Given the description of an element on the screen output the (x, y) to click on. 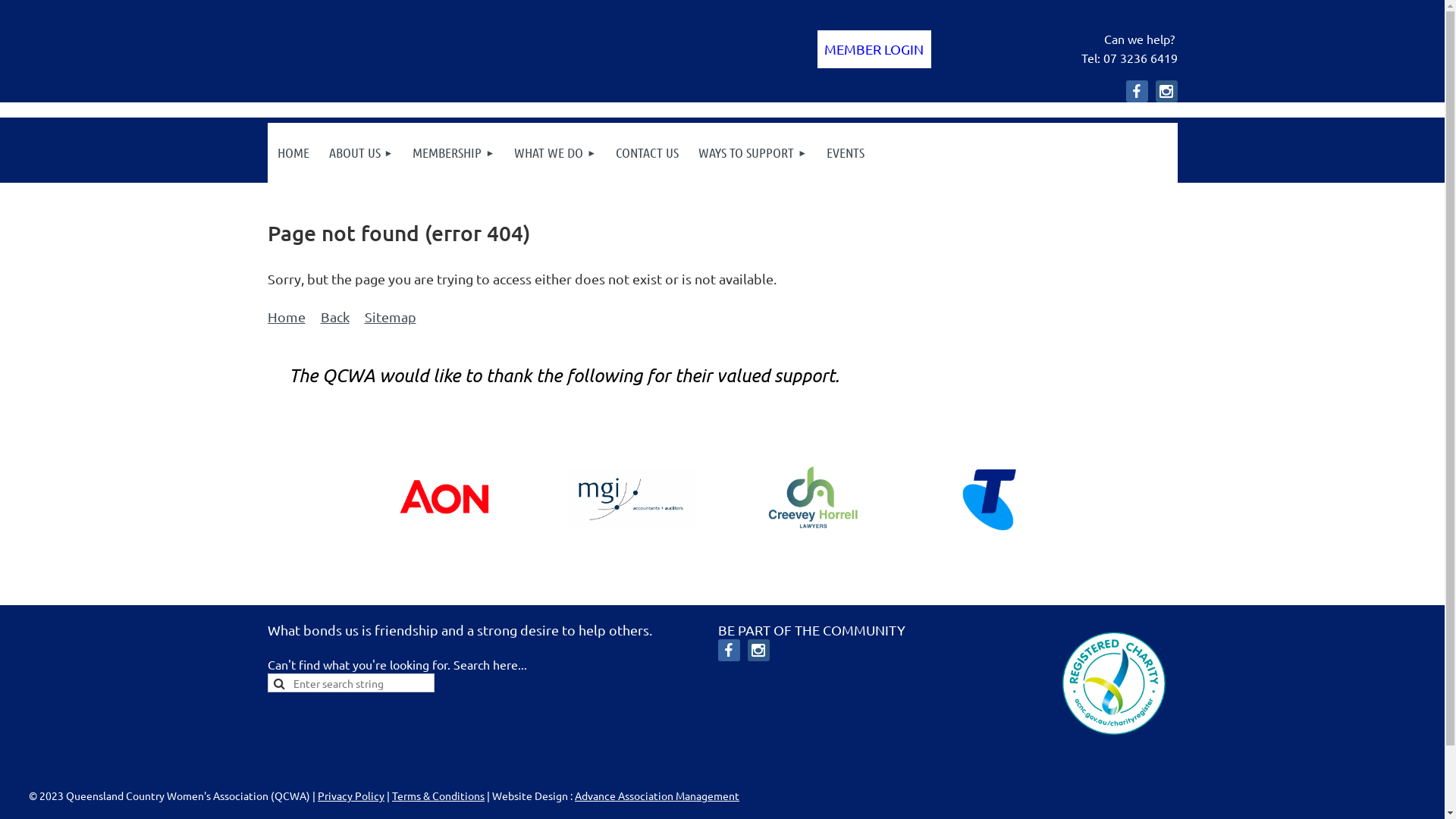
Instagram Element type: hover (758, 650)
Facebook Element type: hover (1136, 91)
Sitemap Element type: text (389, 316)
Log in Element type: text (874, 49)
Instagram Element type: hover (1166, 91)
Home Element type: text (285, 316)
ABOUT US Element type: text (360, 152)
EVENTS Element type: text (845, 152)
Privacy Policy Element type: text (350, 795)
Facebook Element type: hover (729, 650)
WAYS TO SUPPORT Element type: text (752, 152)
Advance Association Management Element type: text (656, 795)
MEMBERSHIP Element type: text (453, 152)
Back Element type: text (334, 316)
CONTACT US Element type: text (646, 152)
Terms & Conditions Element type: text (438, 795)
HOME Element type: text (292, 152)
WHAT WE DO Element type: text (554, 152)
